Given the description of an element on the screen output the (x, y) to click on. 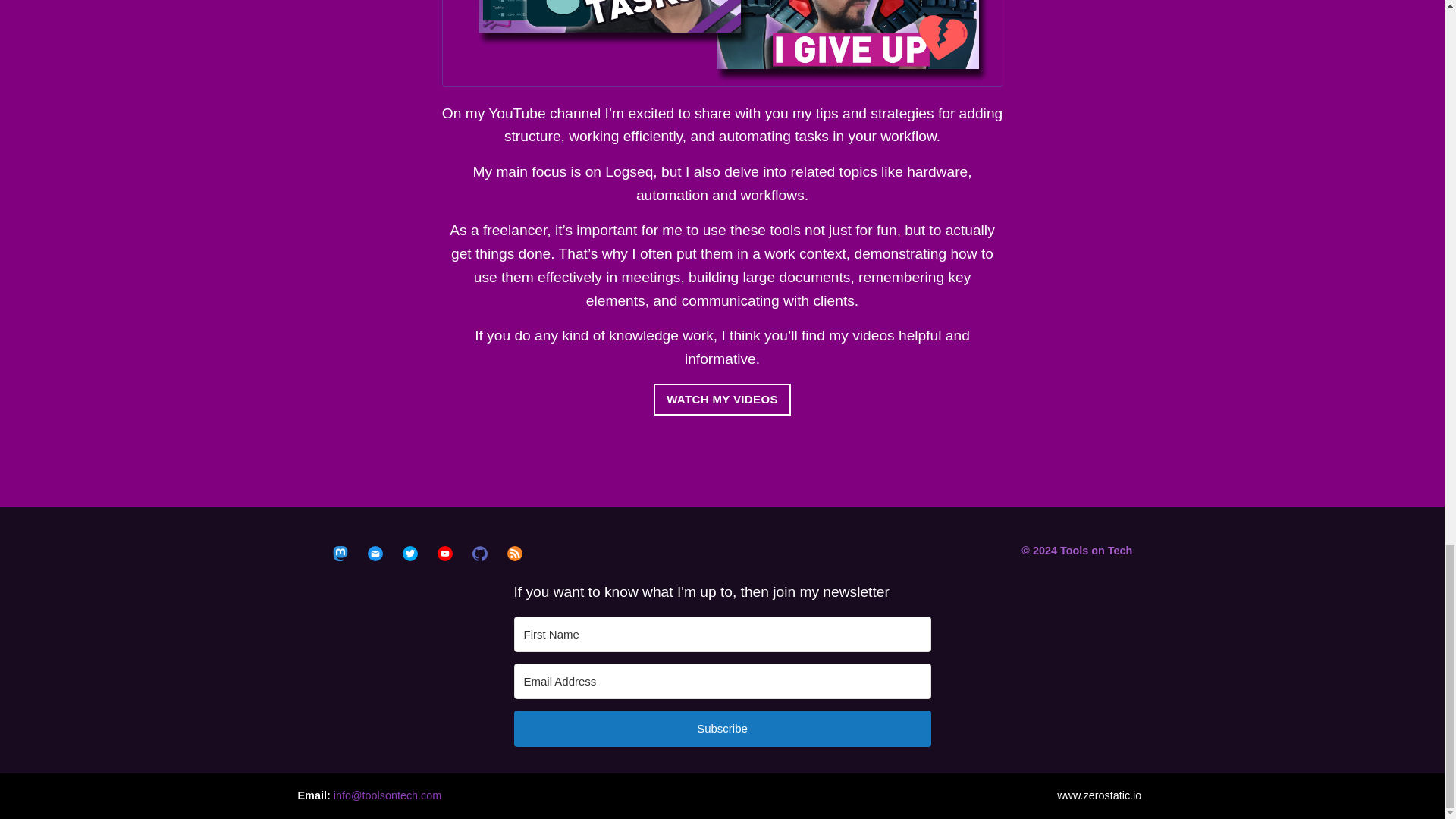
Twitter (410, 553)
WATCH MY VIDEOS (721, 399)
Subscribe (722, 728)
Mastadon (340, 553)
www.zerostatic.io (1099, 795)
RSS (514, 553)
Email (375, 553)
YouTube (445, 553)
GitHub (479, 553)
